Given the description of an element on the screen output the (x, y) to click on. 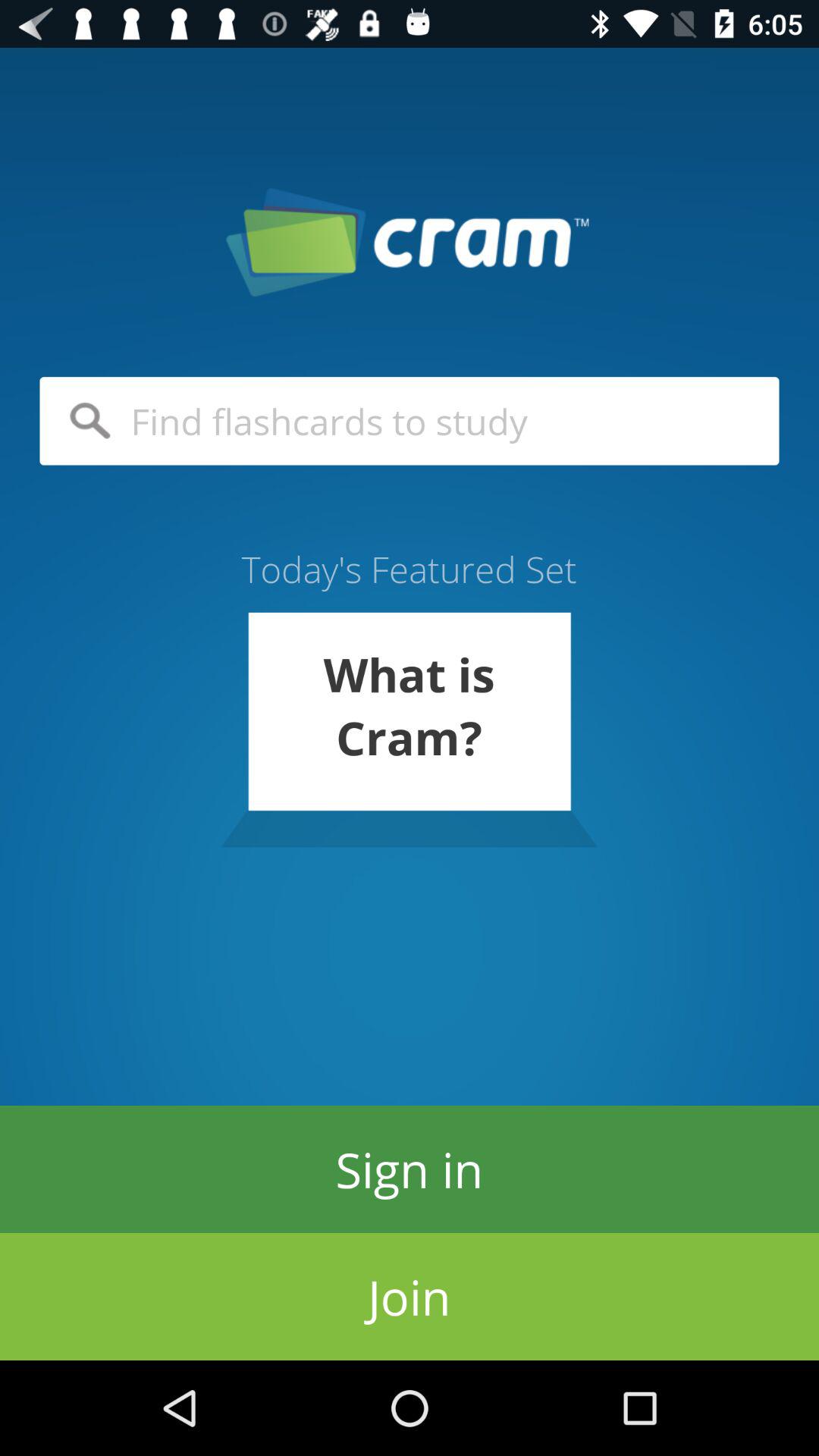
open icon below the sign in item (409, 1296)
